Given the description of an element on the screen output the (x, y) to click on. 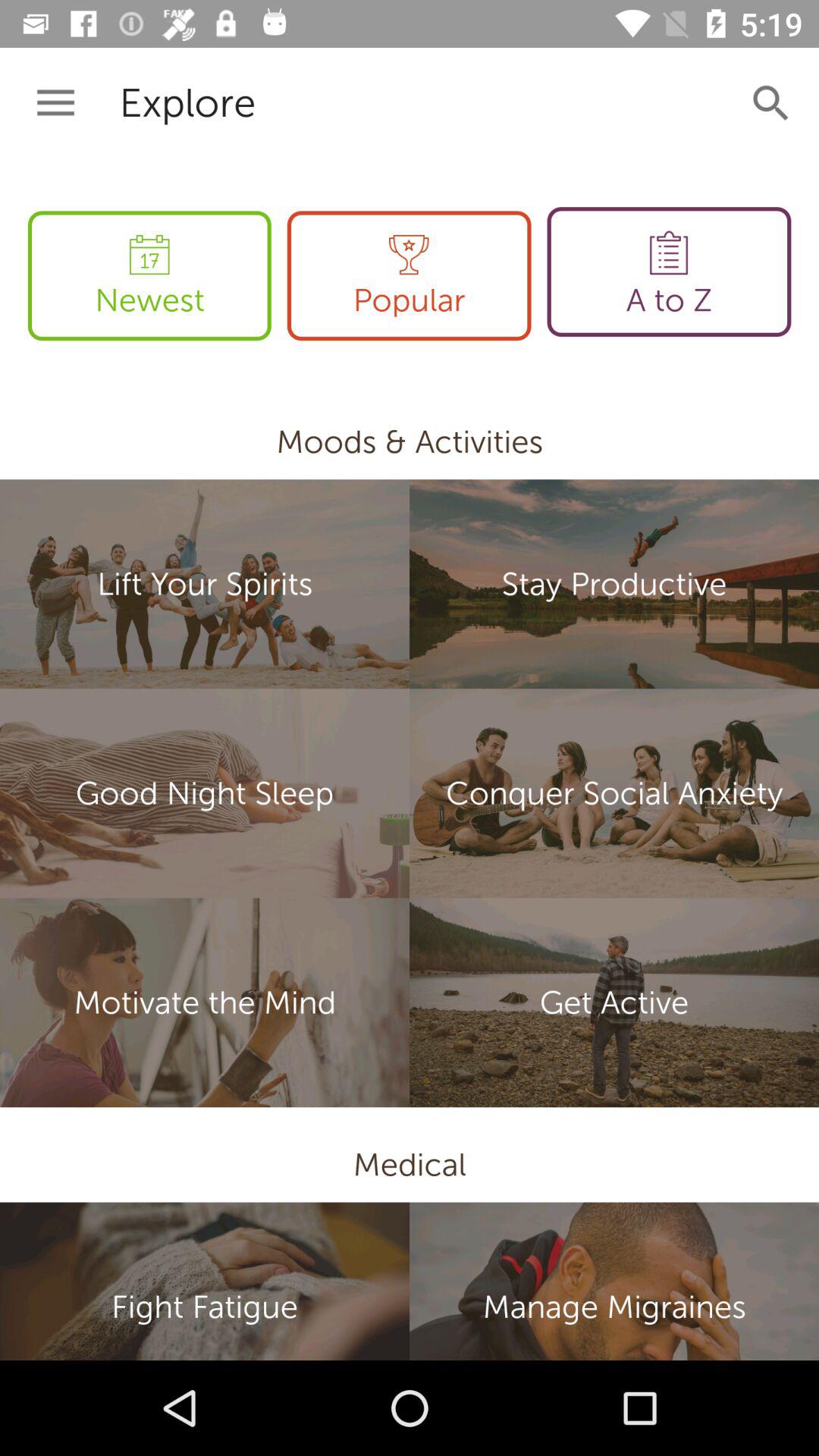
click item to the left of explore app (55, 103)
